Given the description of an element on the screen output the (x, y) to click on. 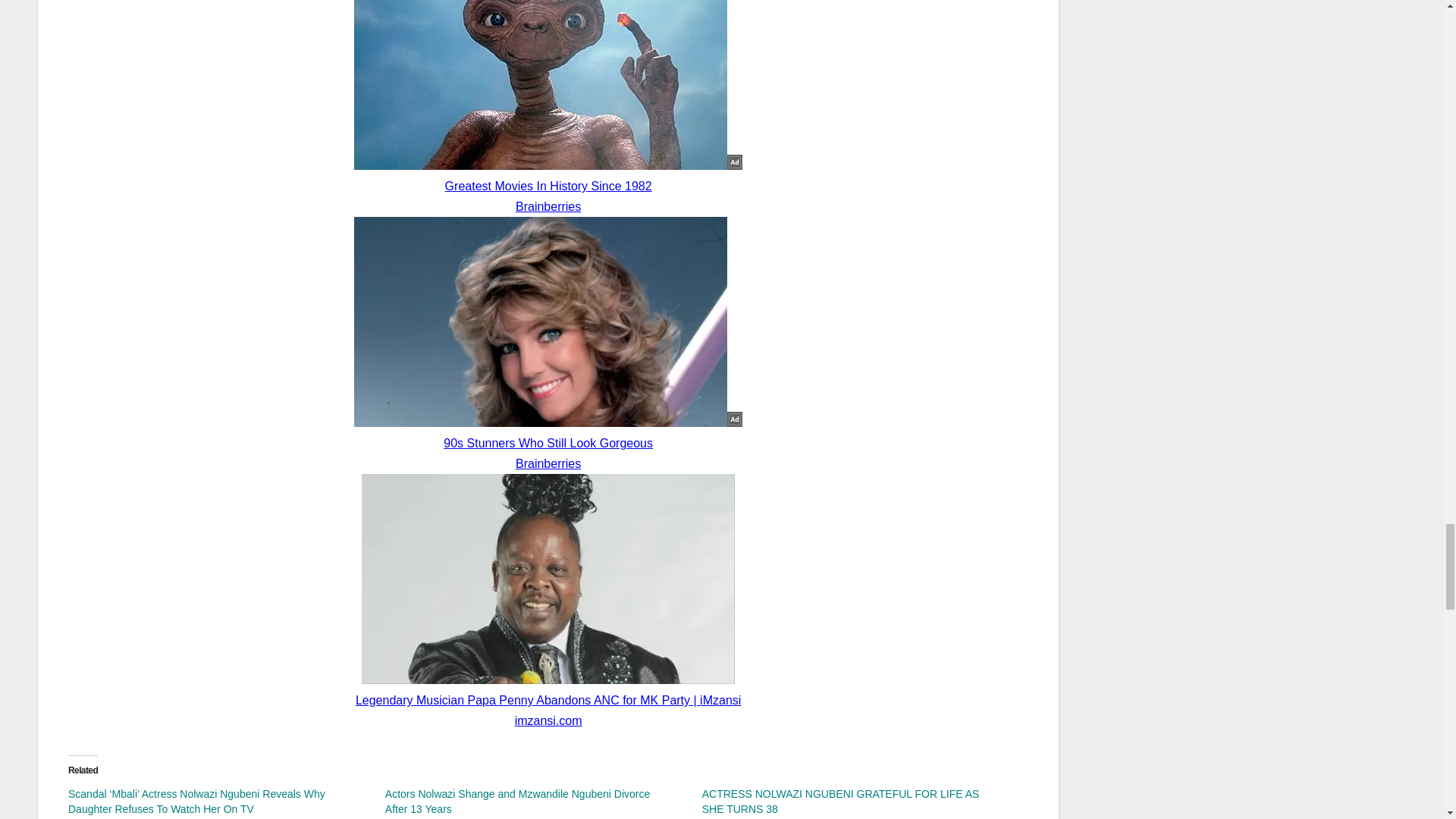
ACTRESS NOLWAZI NGUBENI GRATEFUL FOR LIFE AS SHE TURNS 38 (840, 800)
